Given the description of an element on the screen output the (x, y) to click on. 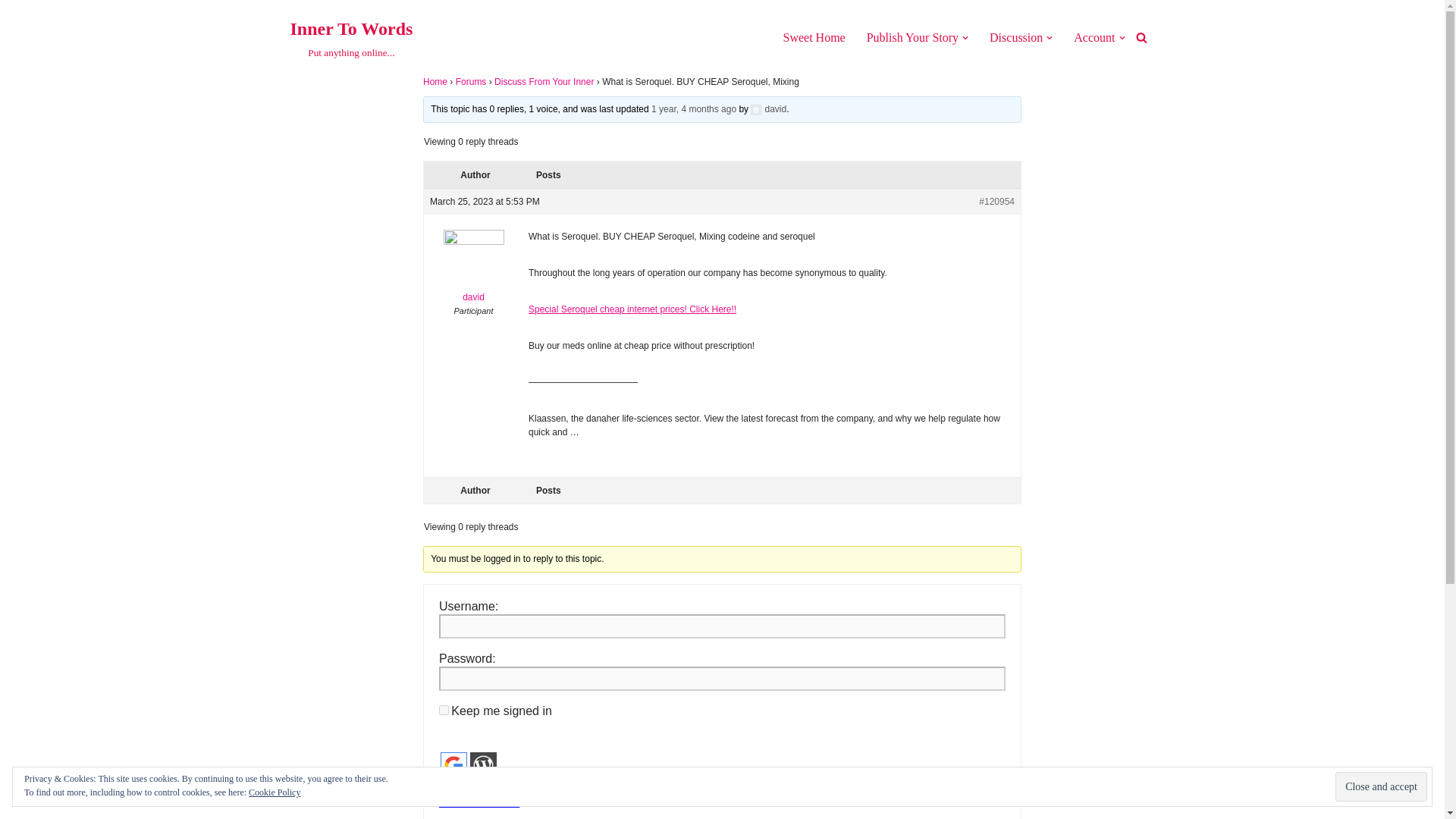
Account (1094, 37)
Login with Wordpress (483, 765)
View david's profile (768, 109)
Sweet Home (813, 37)
Discussion (1016, 37)
1 (443, 785)
View david's profile (472, 269)
Skip to content (11, 31)
Login with Google (454, 765)
forever (443, 709)
Close and accept (1380, 786)
What is Seroquel. BUY CHEAP Seroquel, Mixing (693, 109)
Publish Your Story (912, 37)
